Given the description of an element on the screen output the (x, y) to click on. 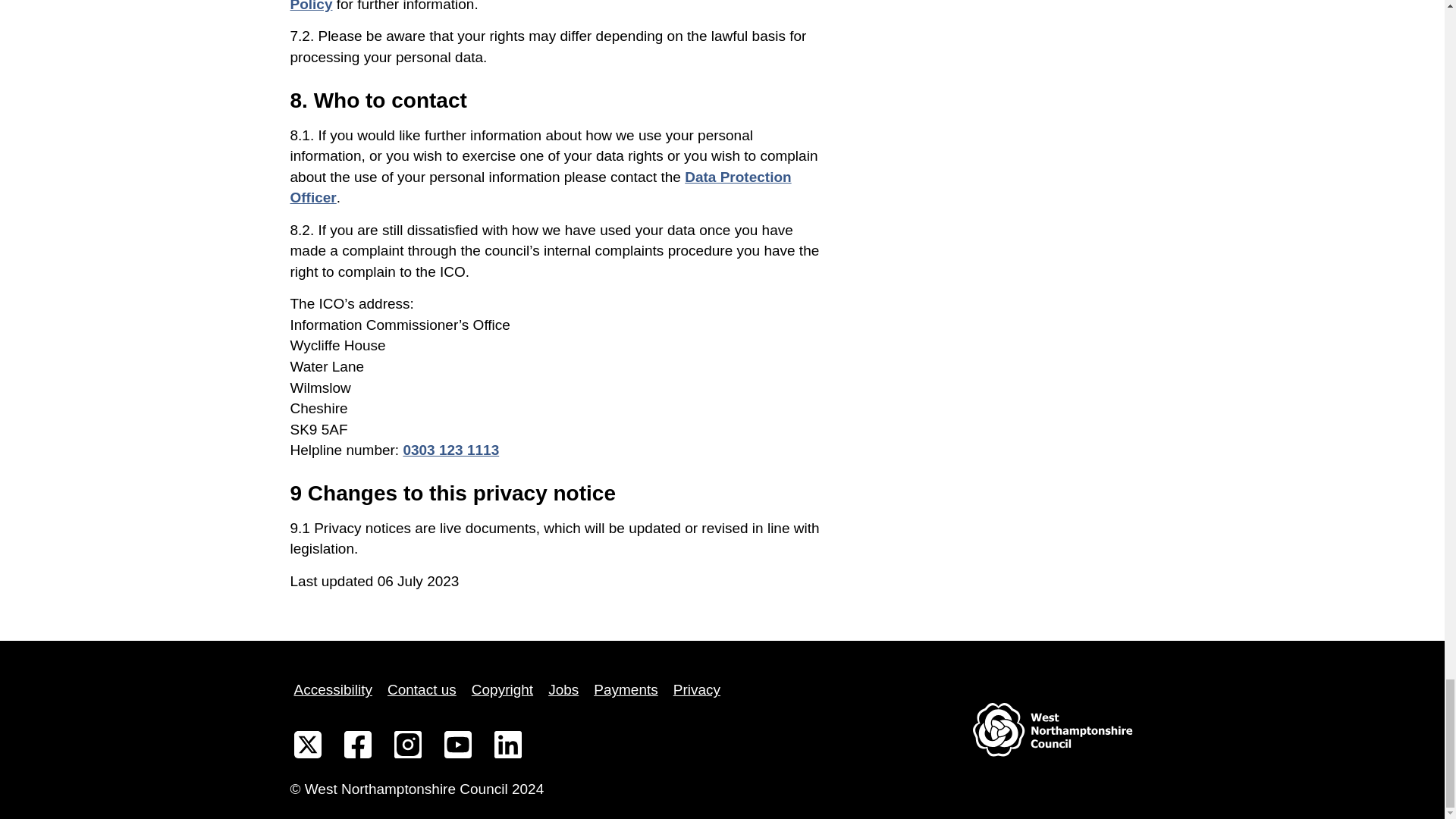
0303 123 1113 (451, 449)
Payments (625, 689)
Accessibility (332, 689)
Privacy Policy (549, 6)
Copyright (502, 689)
Privacy (696, 689)
Contact us (422, 689)
Data Protection Officer (539, 187)
Jobs (563, 689)
